Given the description of an element on the screen output the (x, y) to click on. 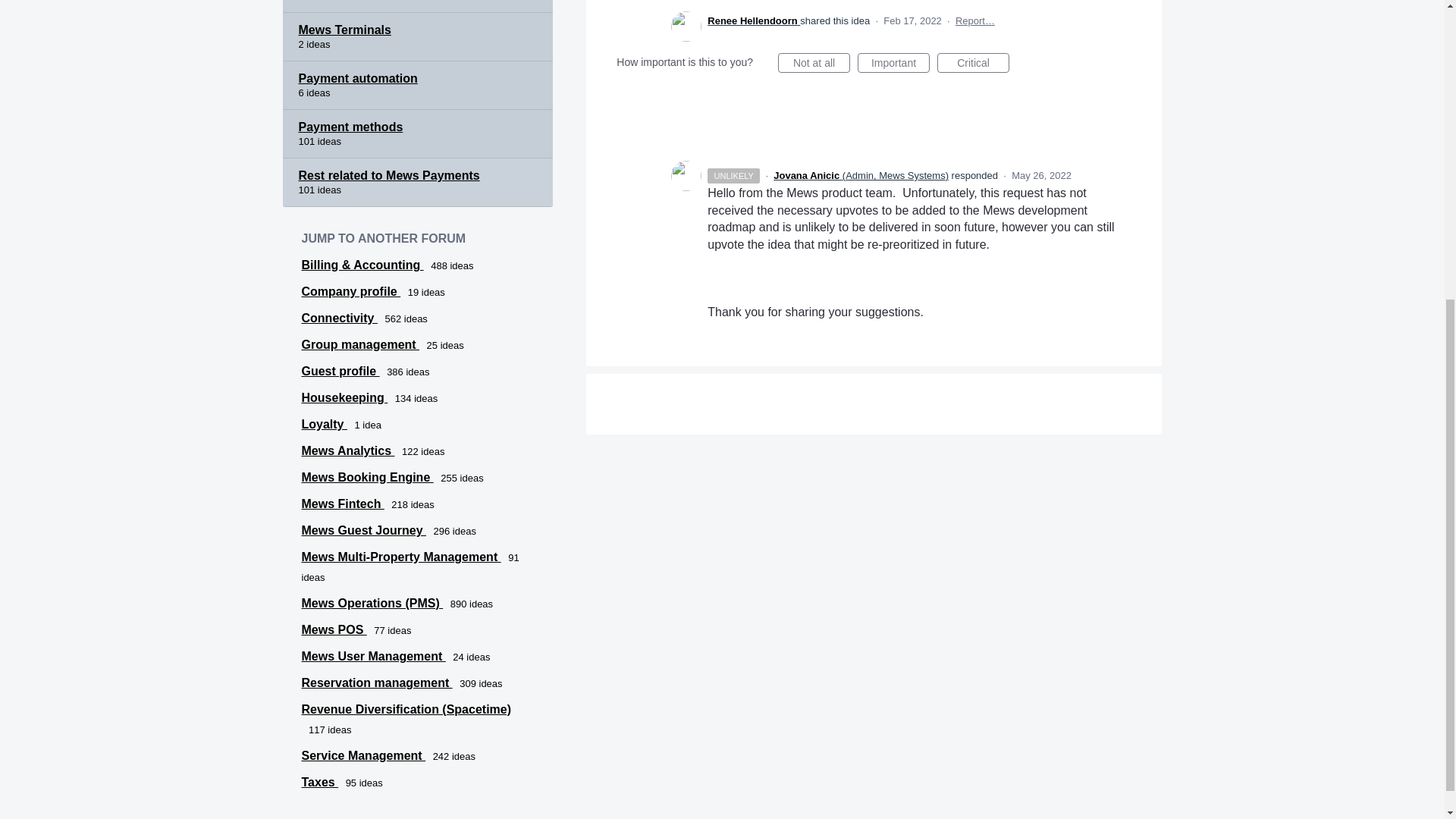
Mews User Management (373, 656)
Payment automation (417, 85)
Guest profile (340, 370)
Payment methods (417, 133)
View all ideas in Mews Analytics (347, 450)
Connectivity (339, 318)
View all ideas in Loyalty (324, 423)
View all ideas in Mews Booking Engine (367, 477)
View all ideas in Connectivity (339, 318)
Mews Booking Engine (367, 477)
View all ideas in category Mews Terminals (417, 37)
Mews Terminals (417, 37)
Mews Guest Journey (363, 530)
View all ideas in category Payment methods (417, 133)
View all ideas in Mews Guest Journey (363, 530)
